Given the description of an element on the screen output the (x, y) to click on. 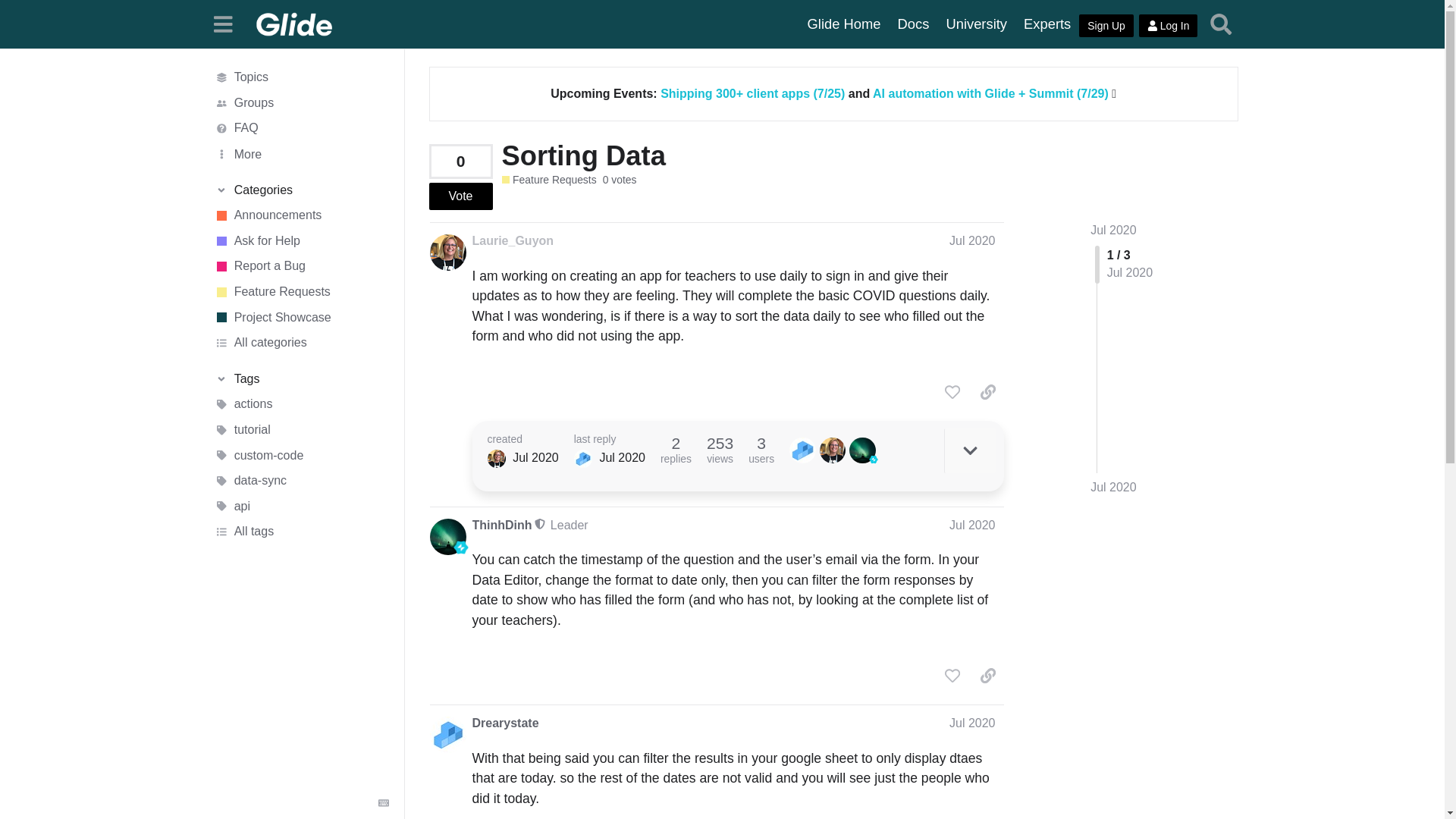
List of available user groups (301, 103)
actions (301, 404)
Sign Up (1105, 25)
Glide Docs for reference (913, 23)
Search (1220, 23)
All categories (301, 343)
Hire a Glide Expert (1046, 23)
Report a Bug (301, 266)
Log In (1168, 25)
Experts (1046, 23)
Sorting Data (583, 155)
custom-code (301, 455)
tutorial (301, 429)
data-sync (301, 481)
